Given the description of an element on the screen output the (x, y) to click on. 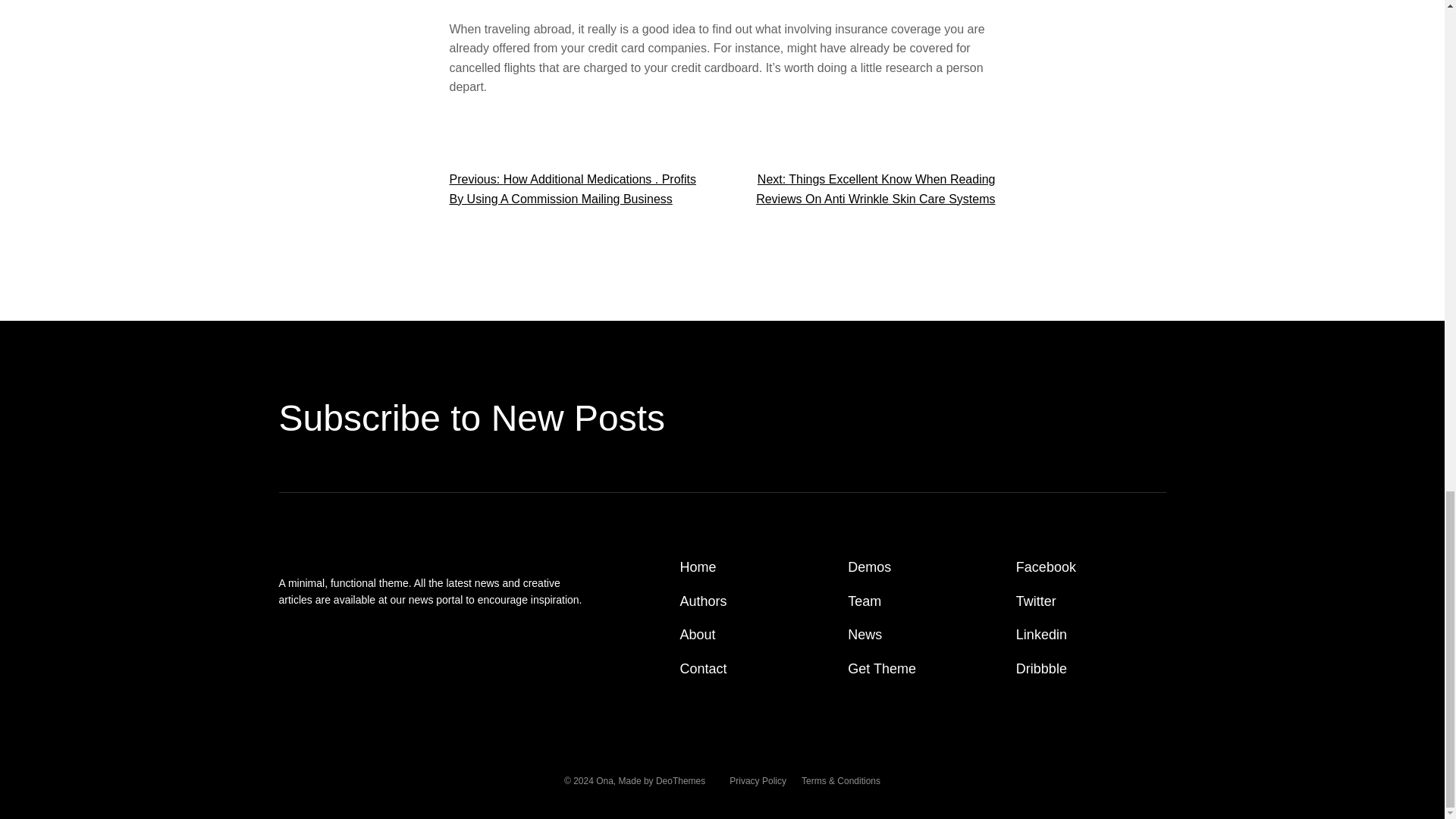
Privacy Policy (757, 780)
Home (697, 567)
Authors (702, 601)
DeoThemes (680, 780)
News (864, 635)
Contact (702, 669)
Get Theme (881, 669)
Facebook (1045, 567)
Dribbble (1041, 669)
Team (863, 601)
About (697, 635)
Linkedin (1041, 635)
Twitter (1036, 601)
